Given the description of an element on the screen output the (x, y) to click on. 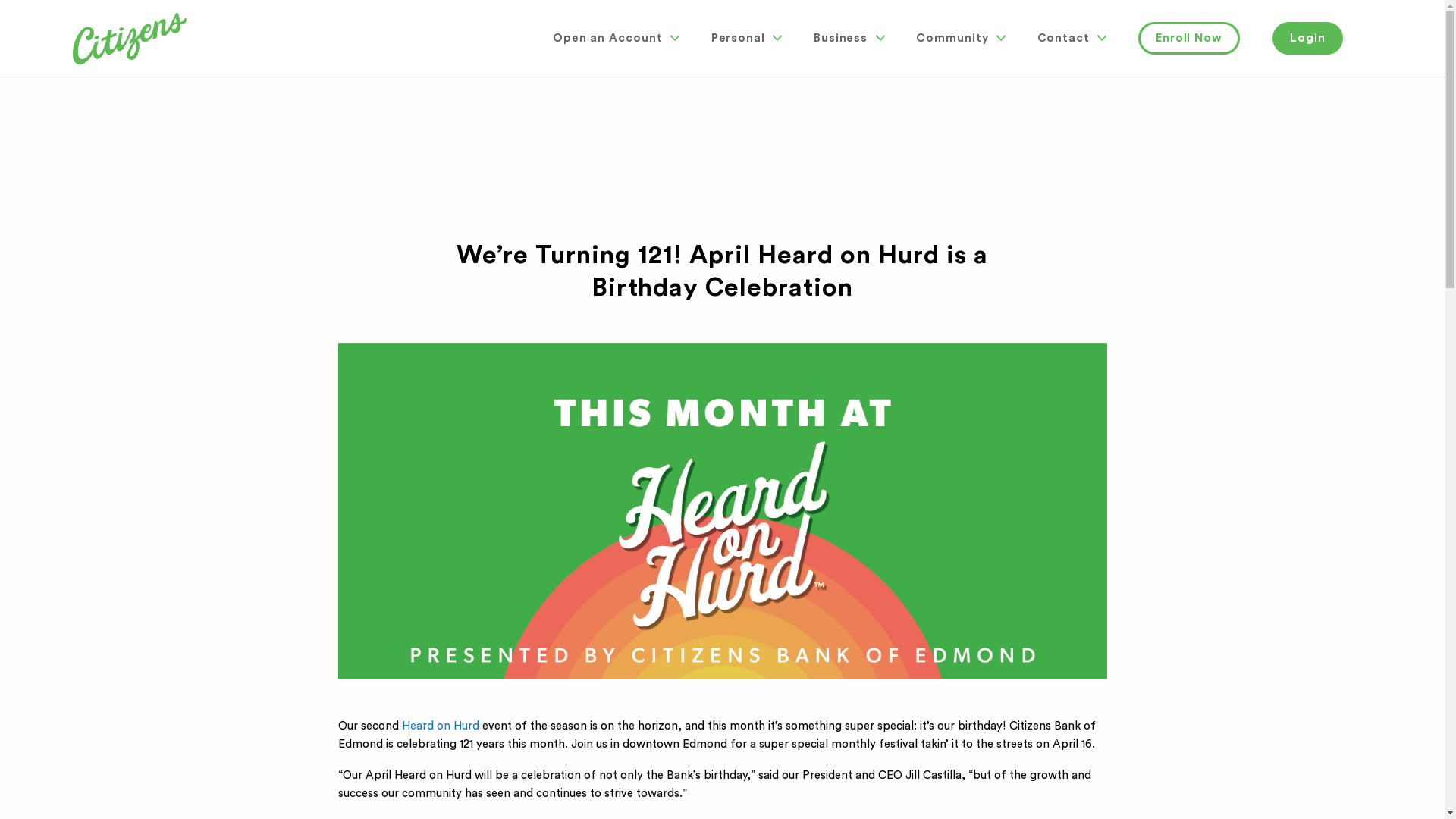
Community Element type: text (960, 38)
Heard on Hurd Element type: text (440, 725)
Contact Element type: text (1071, 37)
Business Element type: text (848, 37)
Enroll Now Element type: text (1188, 37)
Business Element type: text (848, 38)
Open an Account Element type: text (615, 38)
Contact Element type: text (1071, 38)
Login Element type: text (1307, 37)
Community Element type: text (960, 37)
Open an Account Element type: text (615, 37)
Personal Element type: text (746, 37)
Personal Element type: text (746, 38)
